Given the description of an element on the screen output the (x, y) to click on. 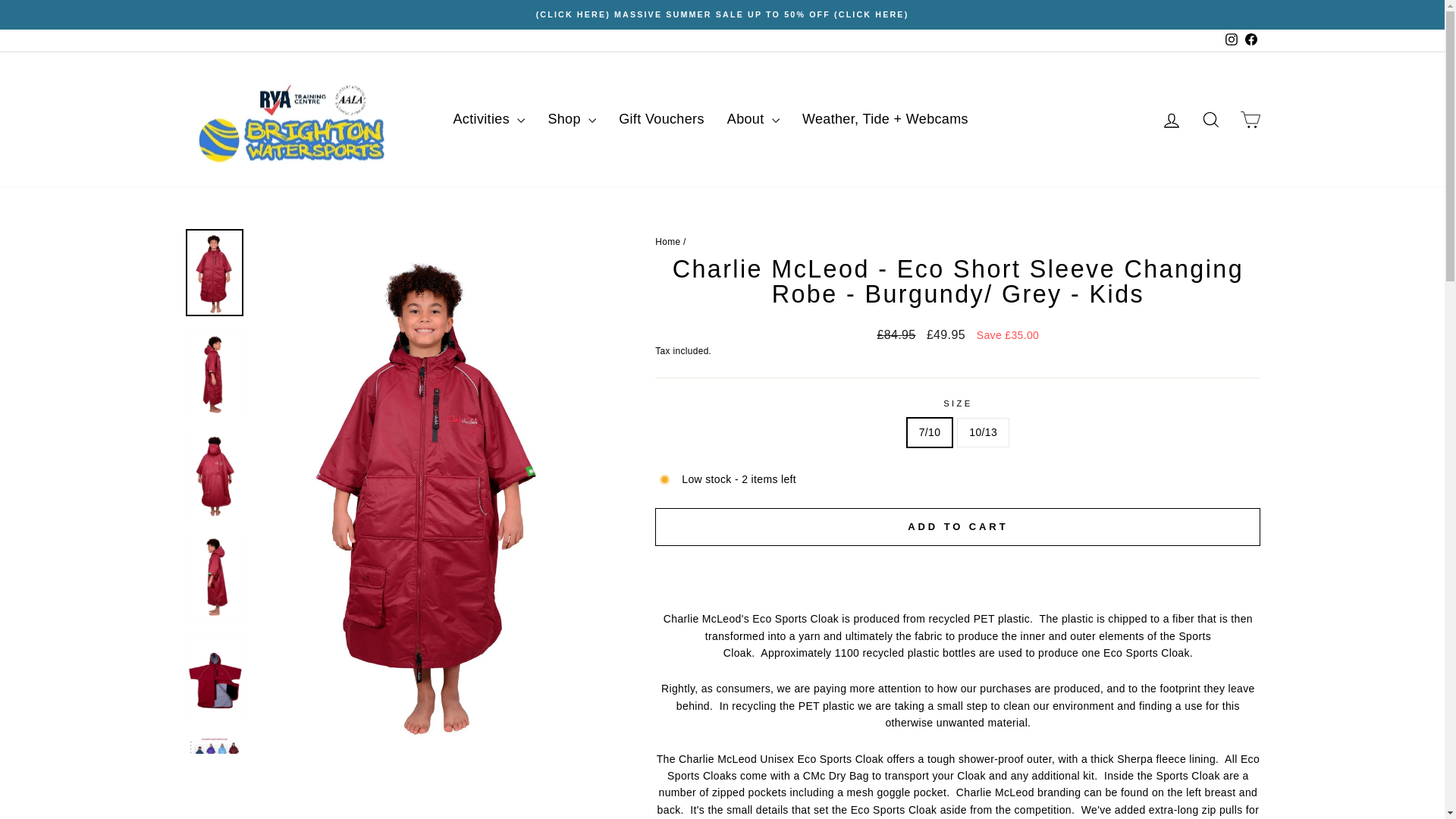
instagram (1231, 39)
icon-search (1210, 119)
Brighton Watersports on Facebook (1250, 40)
Back to the frontpage (667, 241)
Brighton Watersports on Instagram (1230, 40)
account (1170, 120)
